Given the description of an element on the screen output the (x, y) to click on. 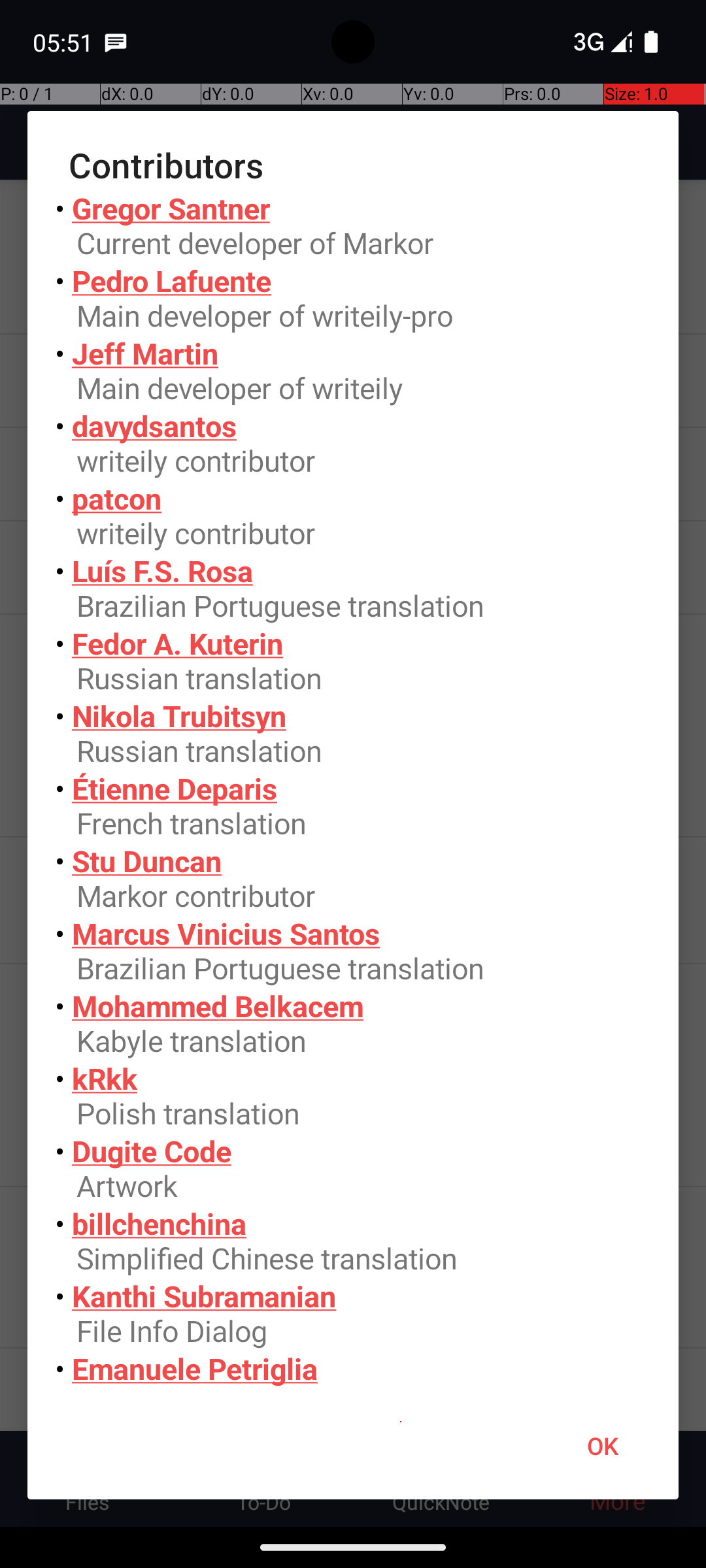
Contributors Element type: android.widget.TextView (352, 164)
• Gregor Santner
   Current developer of Markor
• Pedro Lafuente
   Main developer of writeily-pro
• Jeff Martin
   Main developer of writeily
• davydsantos
   writeily contributor
• patcon
   writeily contributor
• Luís F.S. Rosa
   Brazilian Portuguese translation
• Fedor A. Kuterin
   Russian translation
• Nikola Trubitsyn
   Russian translation
• Étienne Deparis
   French translation
• Stu Duncan
   Markor contributor
• Marcus Vinicius Santos
   Brazilian Portuguese translation
• Mohammed Belkacem
   Kabyle translation
• kRkk
   Polish translation
• Dugite Code
   Artwork
• billchenchina
   Simplified Chinese translation
• Kanthi Subramanian
   File Info Dialog
• Emanuele Petriglia
   Italian translation
• Tiago Danin
   Brazilian Portuguese translation
• Jesica Chu
   Spanish and Traiditonal Chinese translation
• Ankush S Shetkar
   Added Chrome custom tabs for urls
• Lars Pontoppidan
   Danish translation
• Amaya Lim
   Improve project description
• Jawkwon Im
   Add keep screen on
• Mark Goldman
   Added sorting for todo.txt, improved wiki
• natanelho
   Hebrew translation
• Alexander Sachse
   Added simple word counter
• Kyle Phelps
   Added functionality to share multiple files from file browser
• Vladislav Glinsky
   Ukrainian/Russian translations
• David Hebbeker
   Added tooltips for text actions.
• Harshad Srinivasan
   Added functionality to handle leading spaces in lists.
• Niels
   Added encryption for textfile contents.
• Helguli
   Added fast scroll to editor.
• Patricia Heimfarth
   Added checkbox for todo completion date
• Peter Schwede
   Added Zim-Wiki support.
• Frederic Jacob
   Added Zim-Wiki highlighting, text actions, view mode, page creation.
• Winston Feng
   Support spaces in URL.
• k3b
   Added CSV-Support.
 Element type: android.widget.TextView (352, 790)
05:51 Element type: android.widget.TextView (64, 41)
